Given the description of an element on the screen output the (x, y) to click on. 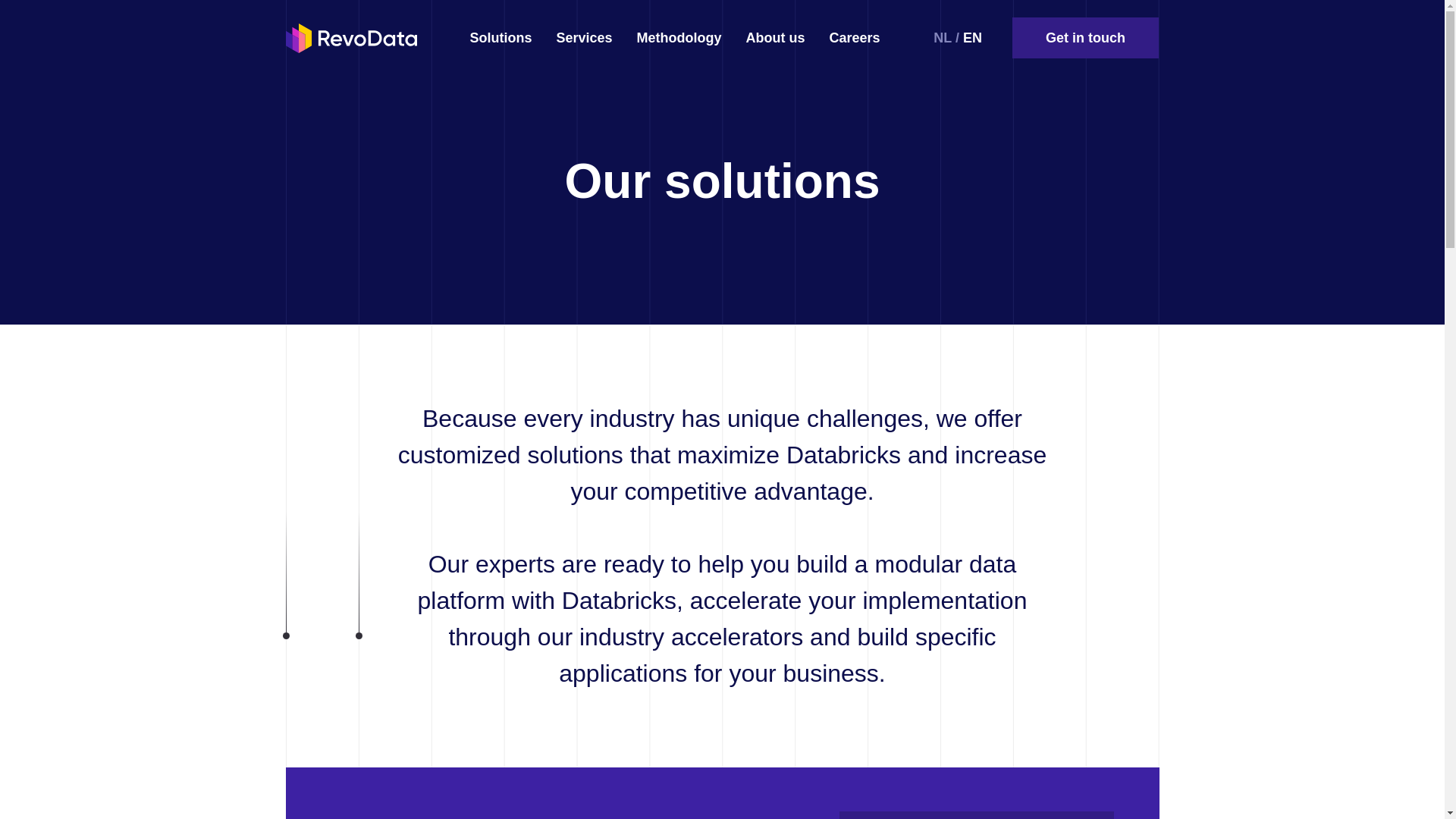
Services (584, 37)
NL (942, 37)
Careers (854, 37)
EN (971, 37)
Solutions (501, 37)
Methodology (679, 37)
About us (775, 37)
